Given the description of an element on the screen output the (x, y) to click on. 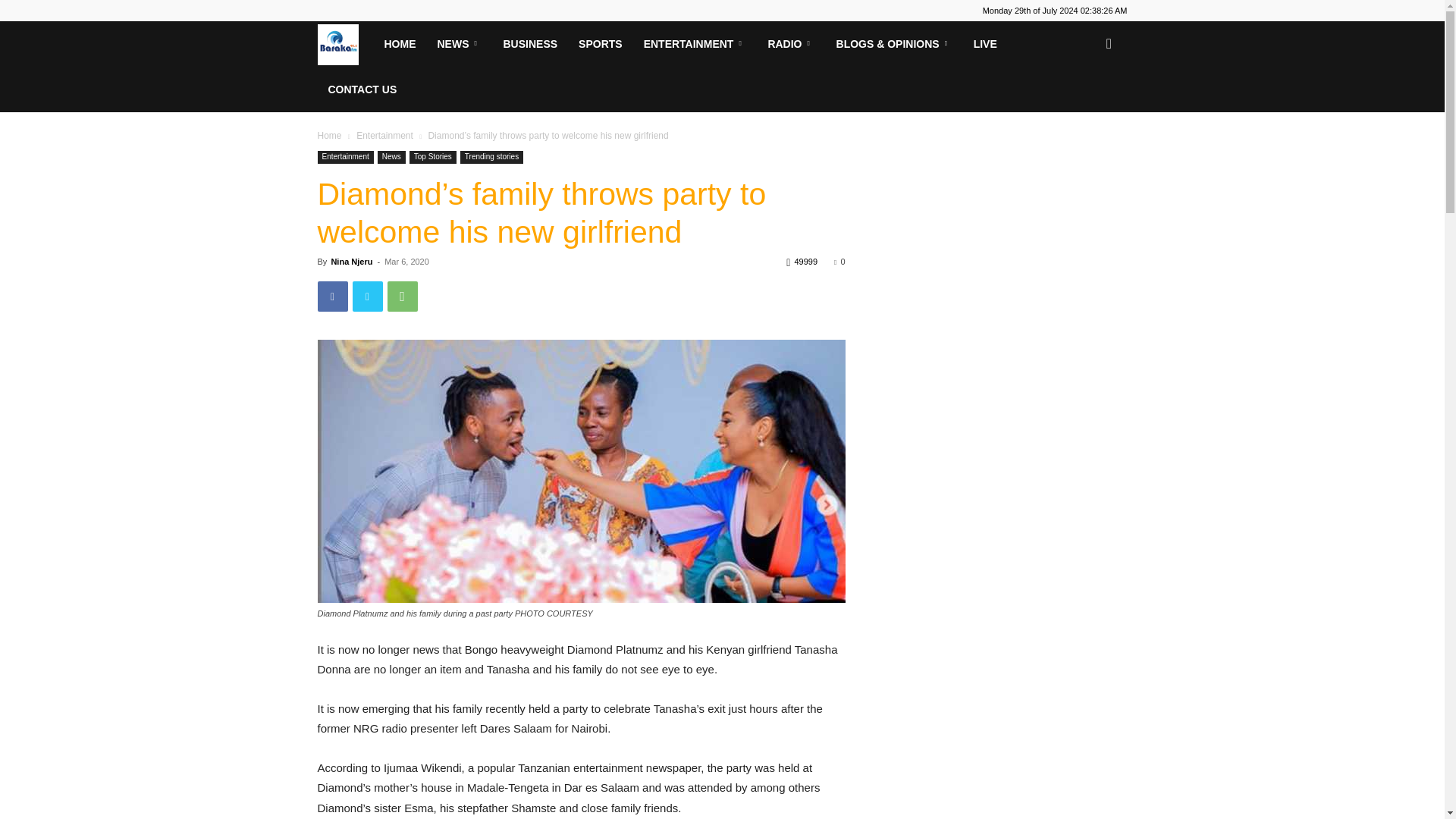
Baraka FM 95.5 (344, 43)
NEWS (459, 43)
HOME (399, 43)
